Given the description of an element on the screen output the (x, y) to click on. 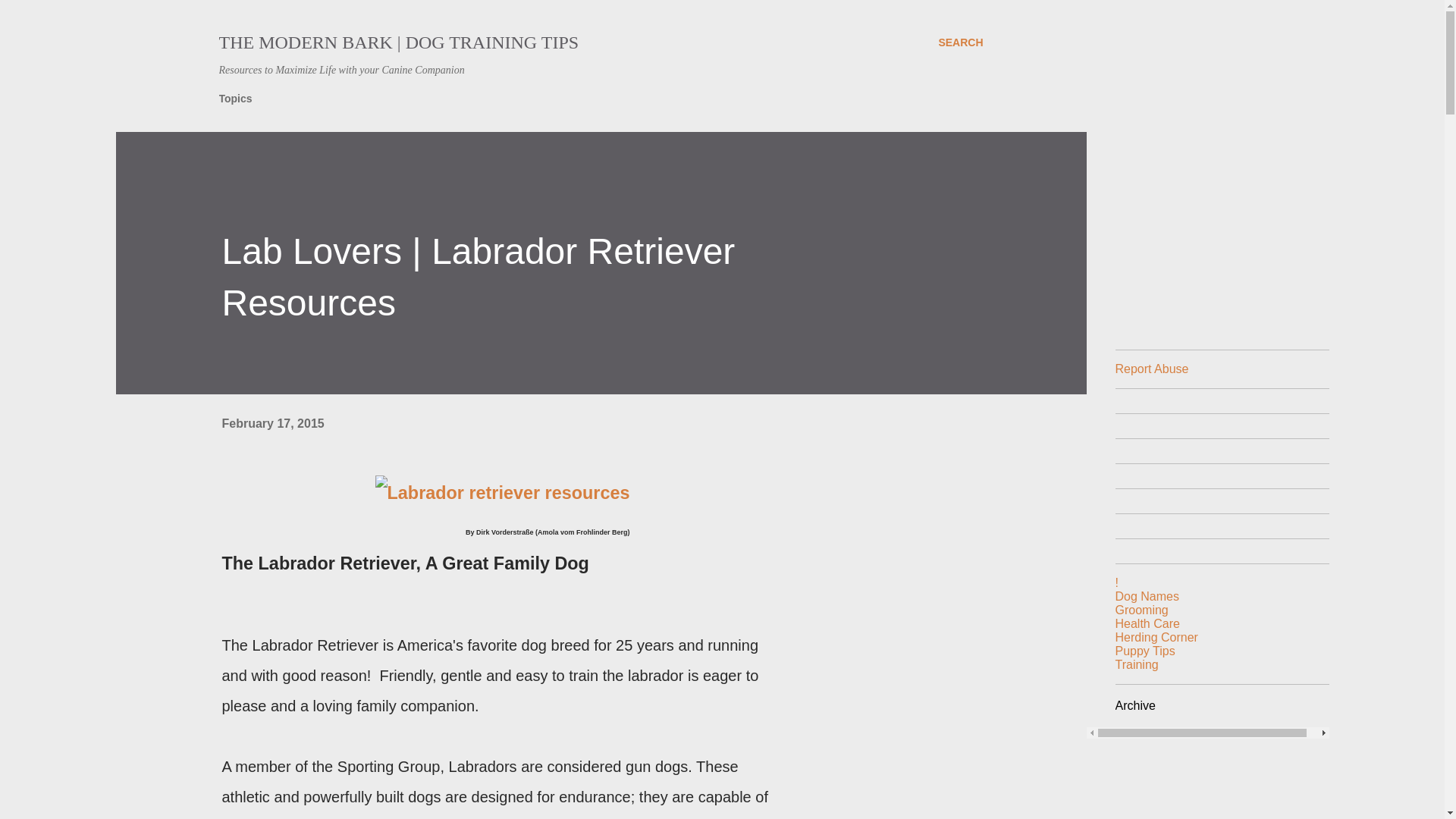
SEARCH (959, 42)
February 17, 2015 (272, 422)
Chocolate Lab (502, 493)
permanent link (272, 422)
